Given the description of an element on the screen output the (x, y) to click on. 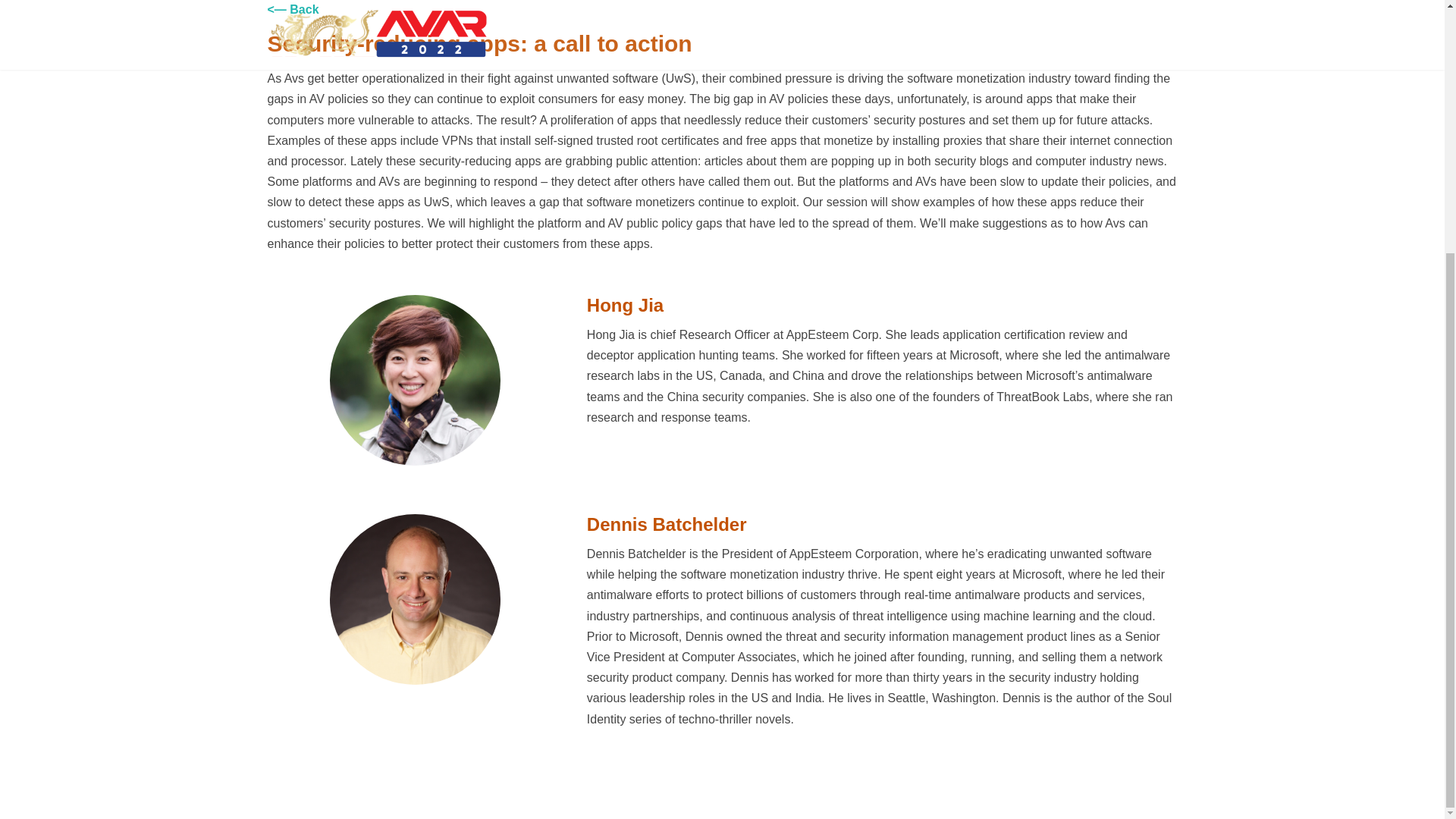
Dennis Batchelder (415, 674)
Hong Jia (415, 454)
